Given the description of an element on the screen output the (x, y) to click on. 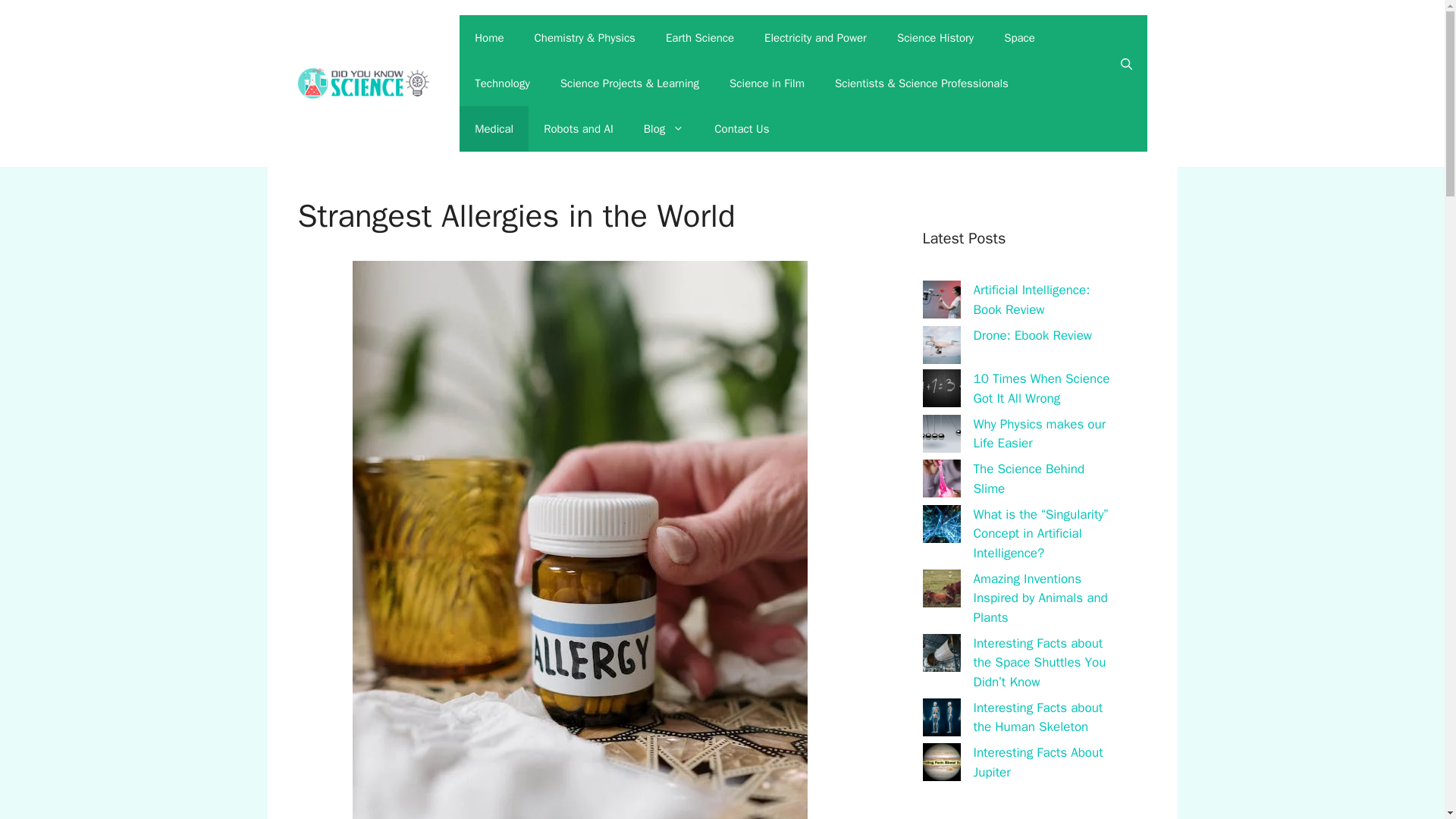
Medical (494, 128)
Drone: Ebook Review (1033, 335)
The Science Behind Slime (1029, 478)
Contact Us (741, 128)
Science in Film (766, 83)
Blog (663, 128)
Artificial Intelligence: Book Review (1032, 299)
Amazing Inventions Inspired by Animals and Plants (1041, 597)
Why Physics makes our Life Easier (1040, 433)
Home (489, 37)
